Given the description of an element on the screen output the (x, y) to click on. 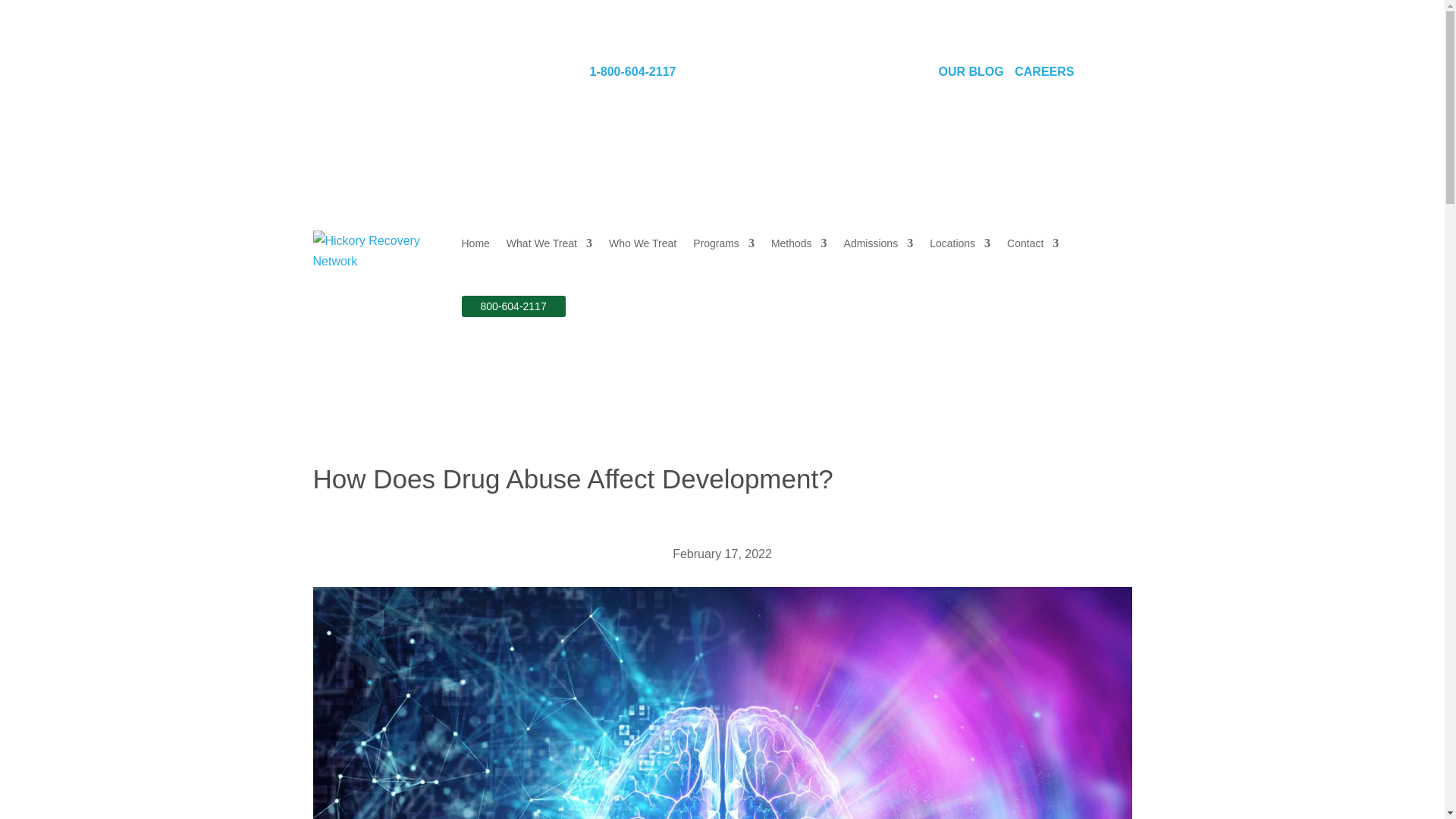
Who We Treat (642, 242)
What We Treat (549, 242)
Programs (723, 242)
Follow on Bing (885, 73)
Locations (960, 242)
Contact (1032, 242)
1-800-604-2117 (633, 71)
OUR BLOG (971, 71)
What We Treat (549, 242)
Methods (799, 242)
